Given the description of an element on the screen output the (x, y) to click on. 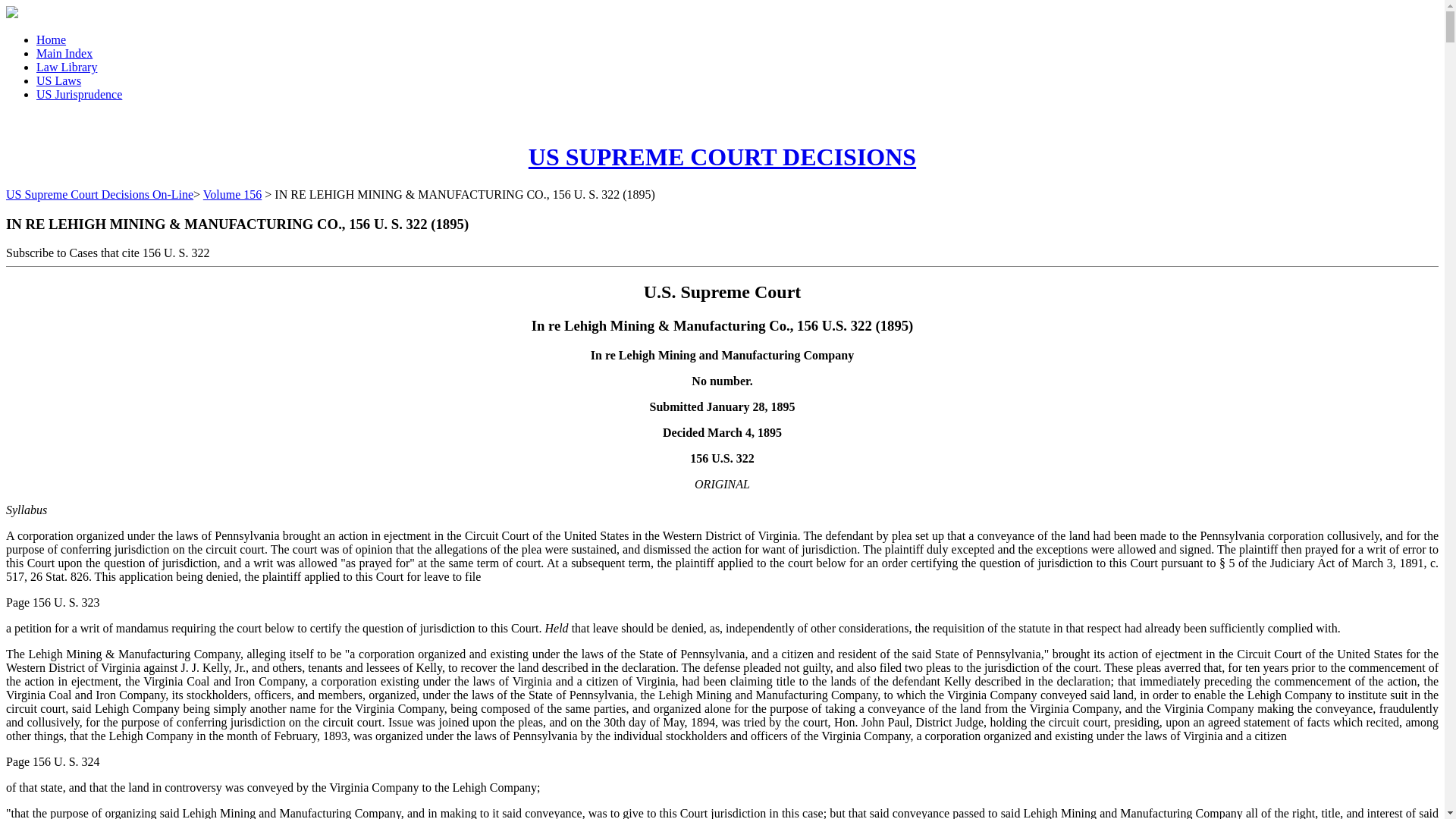
US Laws (58, 80)
US SUPREME COURT DECISIONS (721, 156)
Page 156 U. S. 323 (52, 602)
Home (50, 39)
Page 156 U. S. 324 (52, 761)
Main Index (64, 52)
US Supreme Court Decisions On-Line (99, 194)
US Jurisprudence (79, 93)
Volume 156 (232, 194)
Law Library (66, 66)
